Given the description of an element on the screen output the (x, y) to click on. 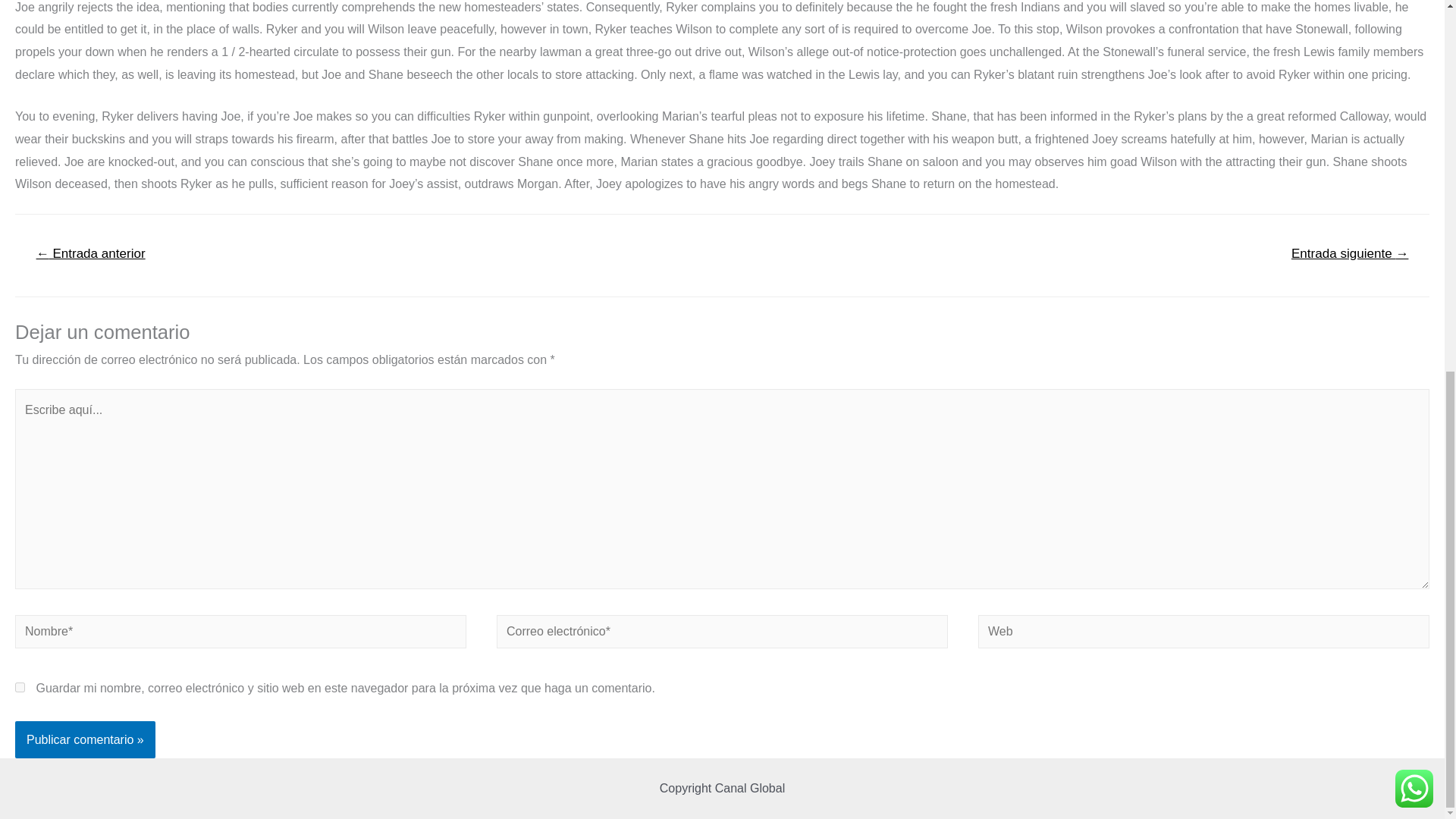
yes (19, 687)
